Given the description of an element on the screen output the (x, y) to click on. 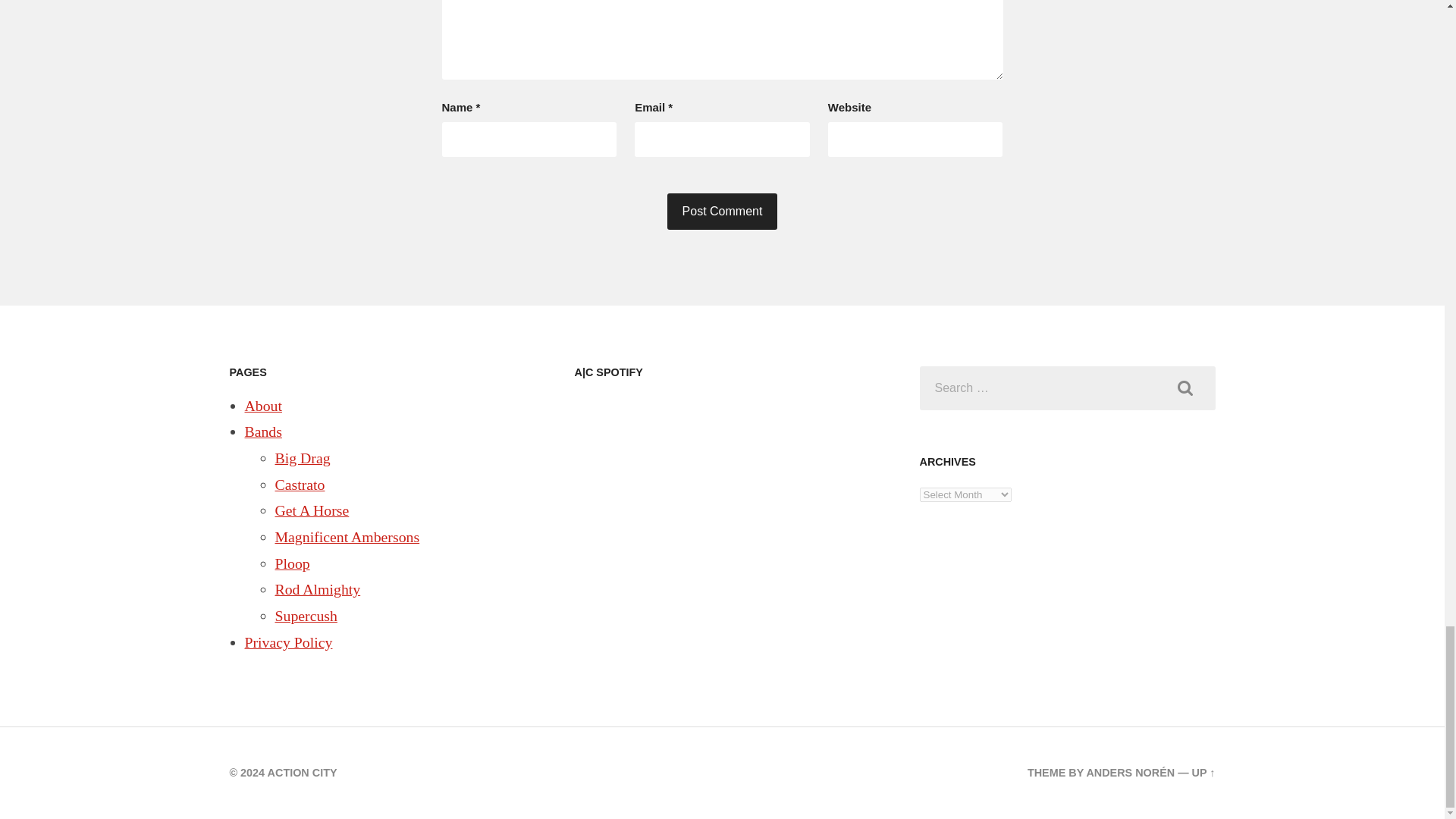
Search (1184, 388)
Magnificent Ambersons (347, 536)
Big Drag (302, 457)
Castrato (299, 484)
Get A Horse (312, 510)
Post Comment (721, 211)
Search (1184, 388)
Post Comment (721, 211)
ACTION CITY (302, 772)
Rod Almighty (317, 588)
